Given the description of an element on the screen output the (x, y) to click on. 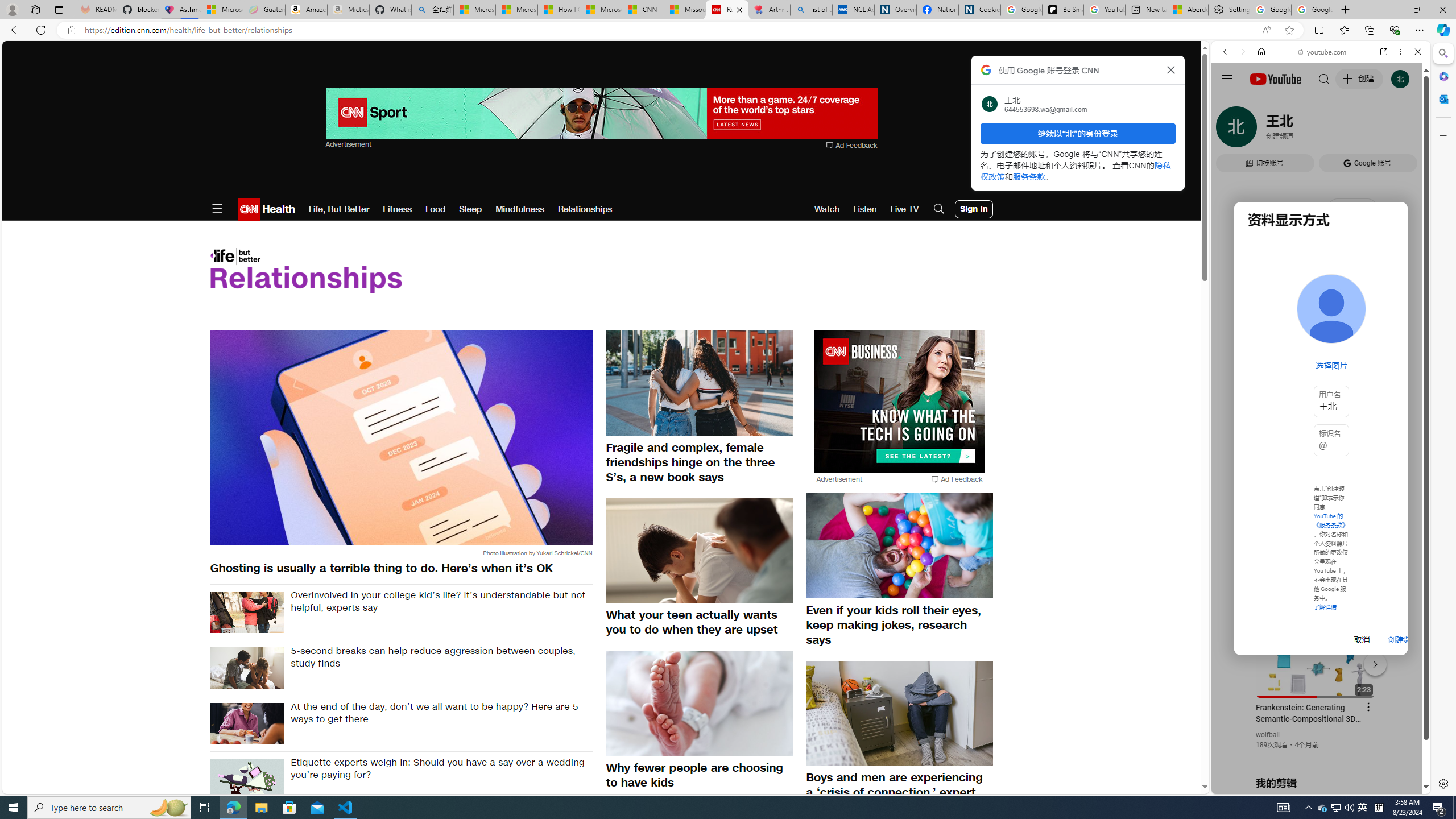
Trailer #2 [HD] (1320, 337)
How I Got Rid of Microsoft Edge's Unnecessary Features (558, 9)
Fitness (397, 209)
GettyImages-1145156502.jpg (246, 668)
Search Filter, IMAGES (1262, 129)
